Given the description of an element on the screen output the (x, y) to click on. 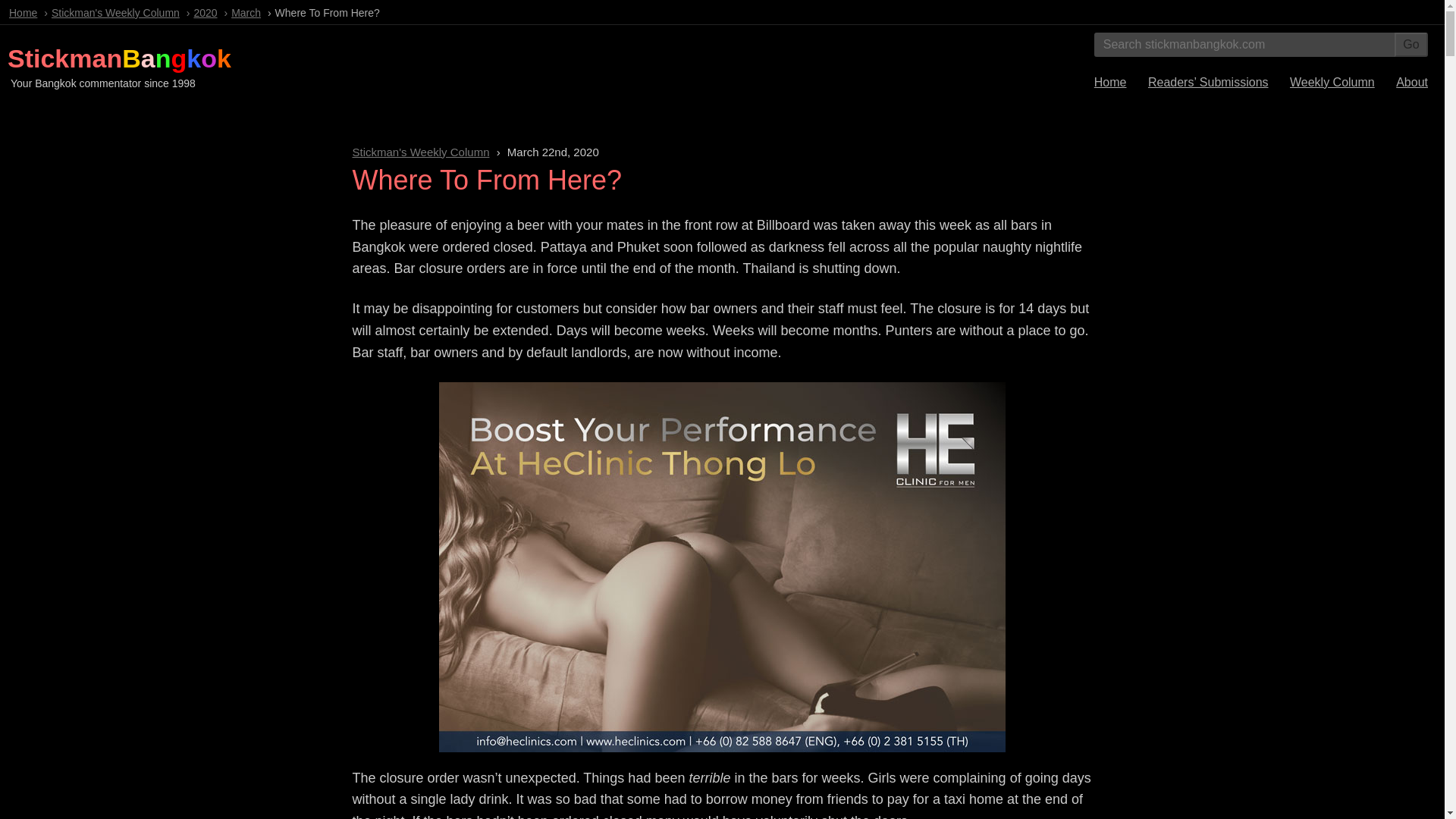
Home (22, 12)
StickmanBangkok (119, 58)
Weekly Column (1332, 82)
March (245, 12)
Go (1411, 44)
Stickman's Weekly Column (114, 12)
About (1412, 82)
Stickman's Weekly Column (420, 151)
2020 (204, 12)
Home (1109, 82)
